Given the description of an element on the screen output the (x, y) to click on. 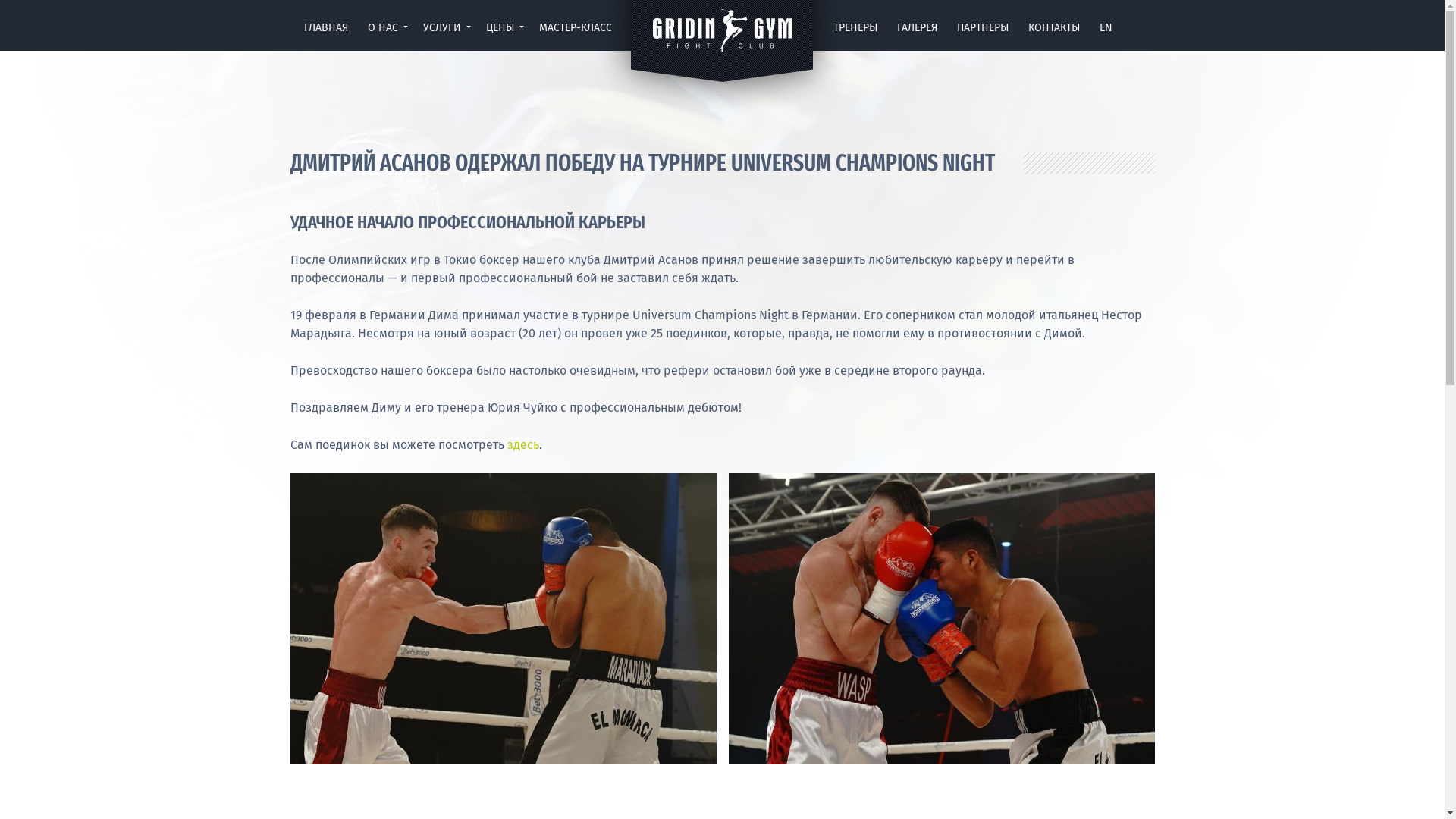
EN Element type: text (1106, 30)
